Given the description of an element on the screen output the (x, y) to click on. 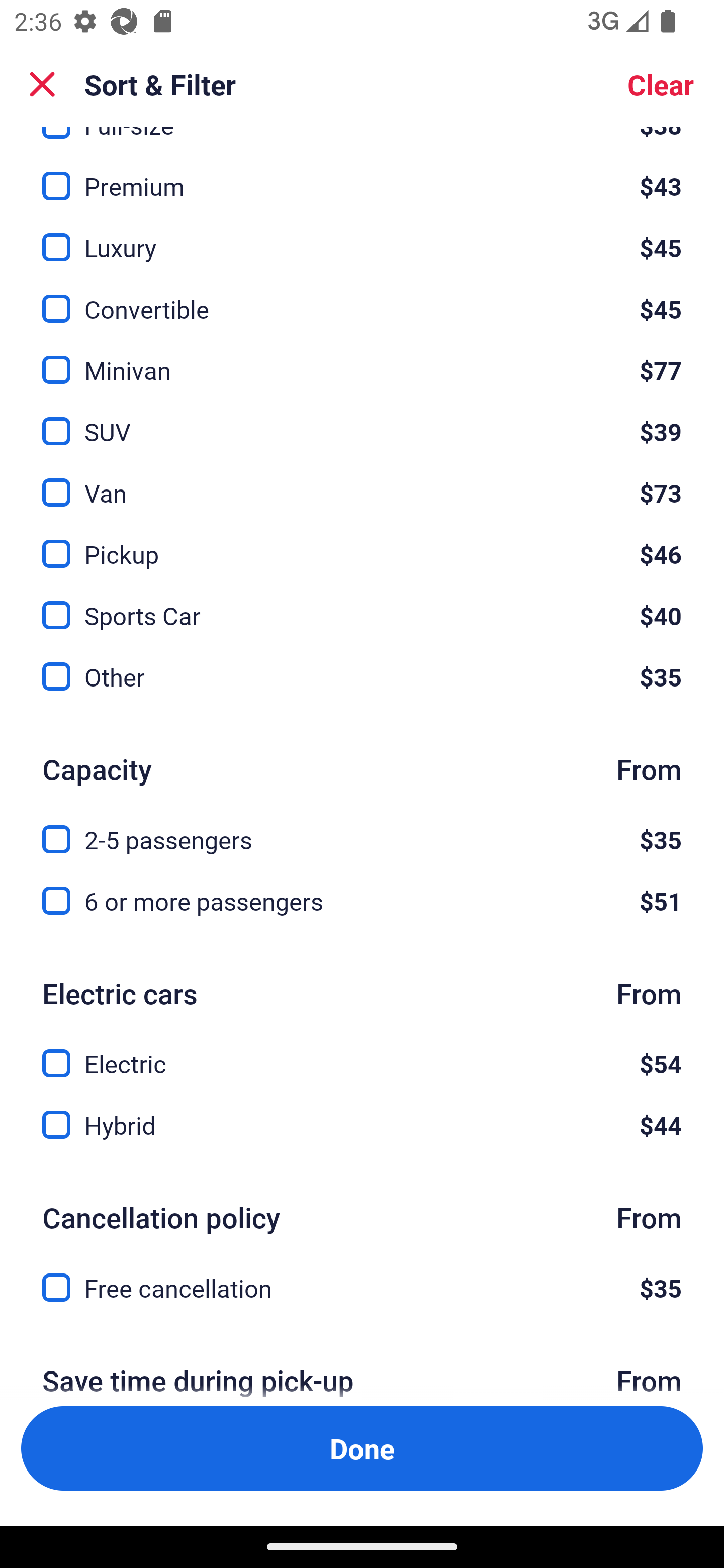
Close Sort and Filter (42, 84)
Clear (660, 84)
Premium, $43 Premium $43 (361, 174)
Luxury, $45 Luxury $45 (361, 235)
Convertible, $45 Convertible $45 (361, 296)
Minivan, $77 Minivan $77 (361, 357)
SUV, $39 SUV $39 (361, 419)
Van, $73 Van $73 (361, 481)
Pickup, $46 Pickup $46 (361, 542)
Sports Car, $40 Sports Car $40 (361, 604)
Other, $35 Other $35 (361, 677)
2-5 passengers, $35 2-5 passengers $35 (361, 828)
6 or more passengers, $51 6 or more passengers $51 (361, 901)
Electric, $54 Electric $54 (361, 1052)
Hybrid, $44 Hybrid $44 (361, 1125)
Free cancellation, $35 Free cancellation $35 (361, 1287)
Apply and close Sort and Filter Done (361, 1448)
